Given the description of an element on the screen output the (x, y) to click on. 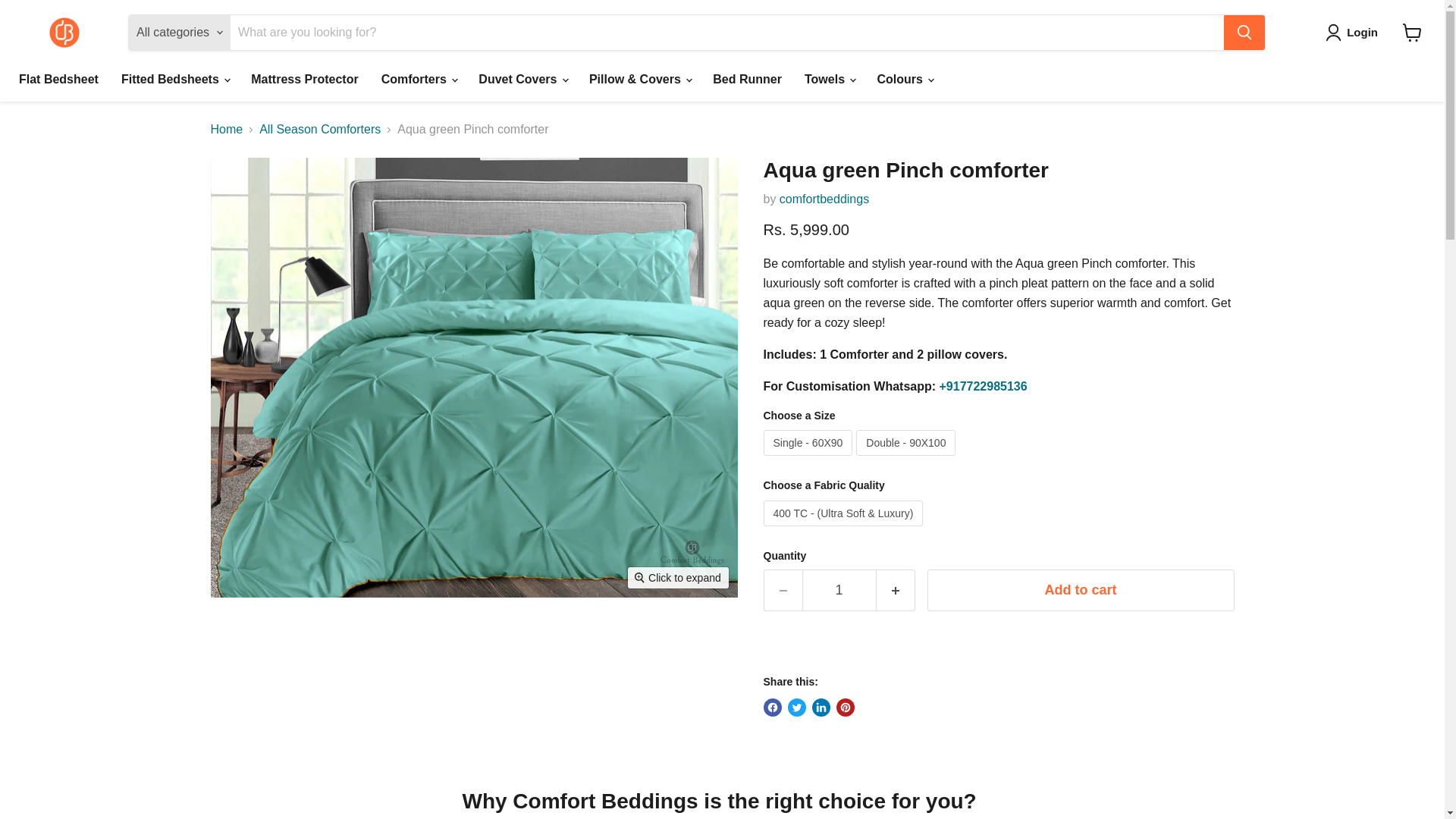
Mattress Protector (304, 79)
View cart (1411, 32)
1 (839, 589)
Bed Runner (747, 79)
comfortbeddings (823, 198)
Login (1354, 32)
Flat Bedsheet (58, 79)
